Given the description of an element on the screen output the (x, y) to click on. 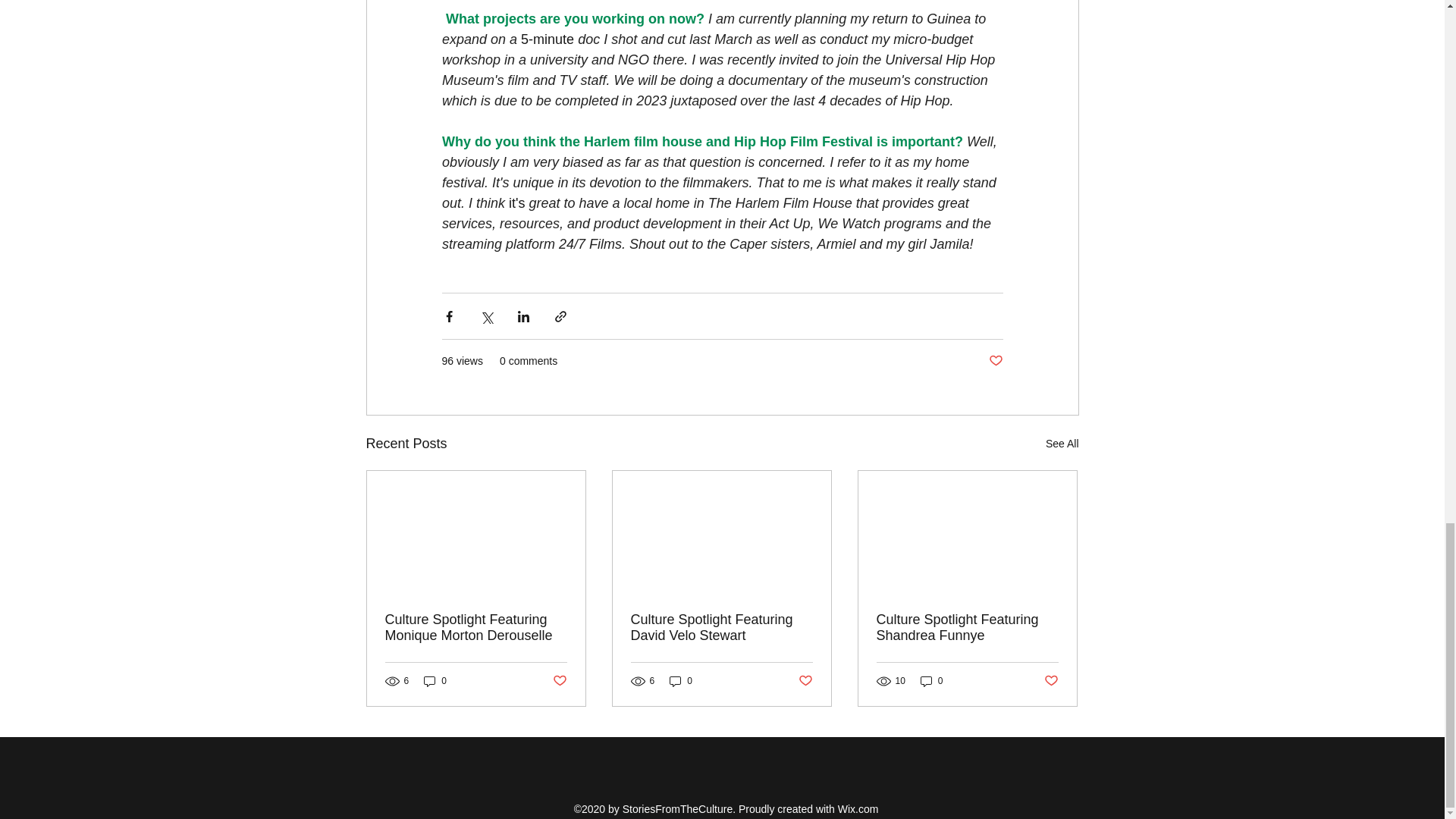
0 (435, 681)
0 (681, 681)
Post not marked as liked (995, 360)
Culture Spotlight Featuring Monique Morton Derouselle (476, 627)
0 (931, 681)
Post not marked as liked (558, 680)
Culture Spotlight Featuring Shandrea Funnye (967, 627)
Post not marked as liked (1050, 680)
Post not marked as liked (804, 680)
Culture Spotlight Featuring David Velo Stewart (721, 627)
See All (1061, 444)
